Given the description of an element on the screen output the (x, y) to click on. 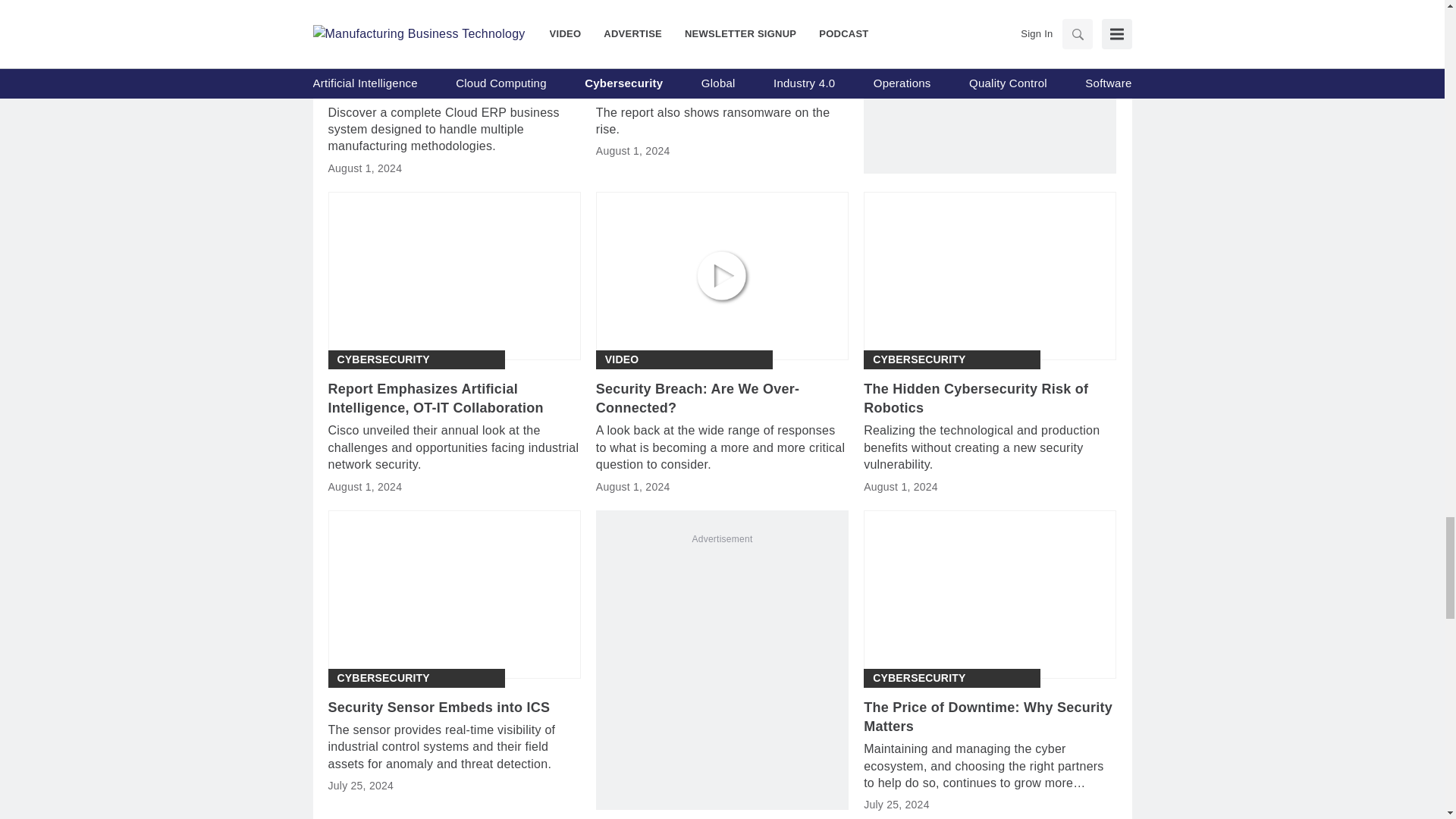
Cybersecurity (918, 678)
Cybersecurity (918, 359)
Cybersecurity (382, 678)
Sponsored (371, 41)
Video (622, 359)
Cybersecurity (651, 41)
Cybersecurity (382, 359)
